Given the description of an element on the screen output the (x, y) to click on. 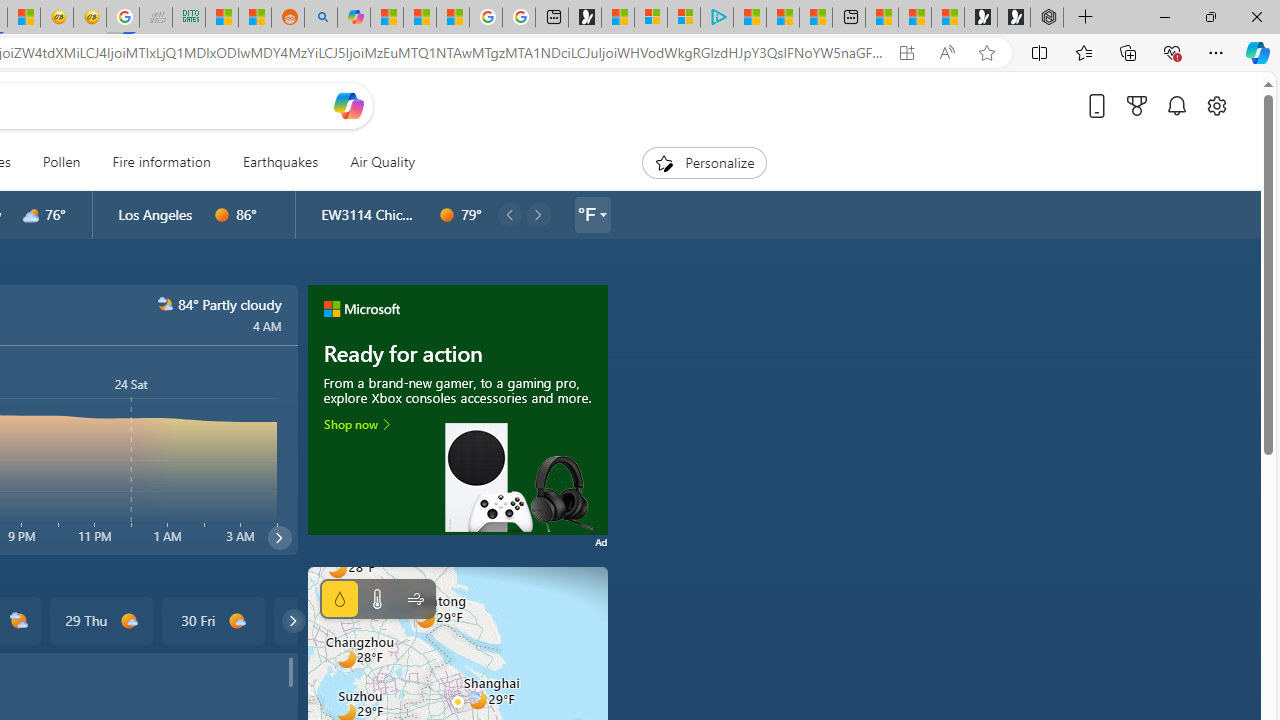
Microsoft Copilot in Bing (353, 17)
These 3 Stocks Pay You More Than 5% to Own Them (815, 17)
Precipitation (339, 599)
App available. Install Microsoft Start Weather (906, 53)
Wind (414, 599)
Air Quality (382, 162)
d0000 (447, 215)
